Given the description of an element on the screen output the (x, y) to click on. 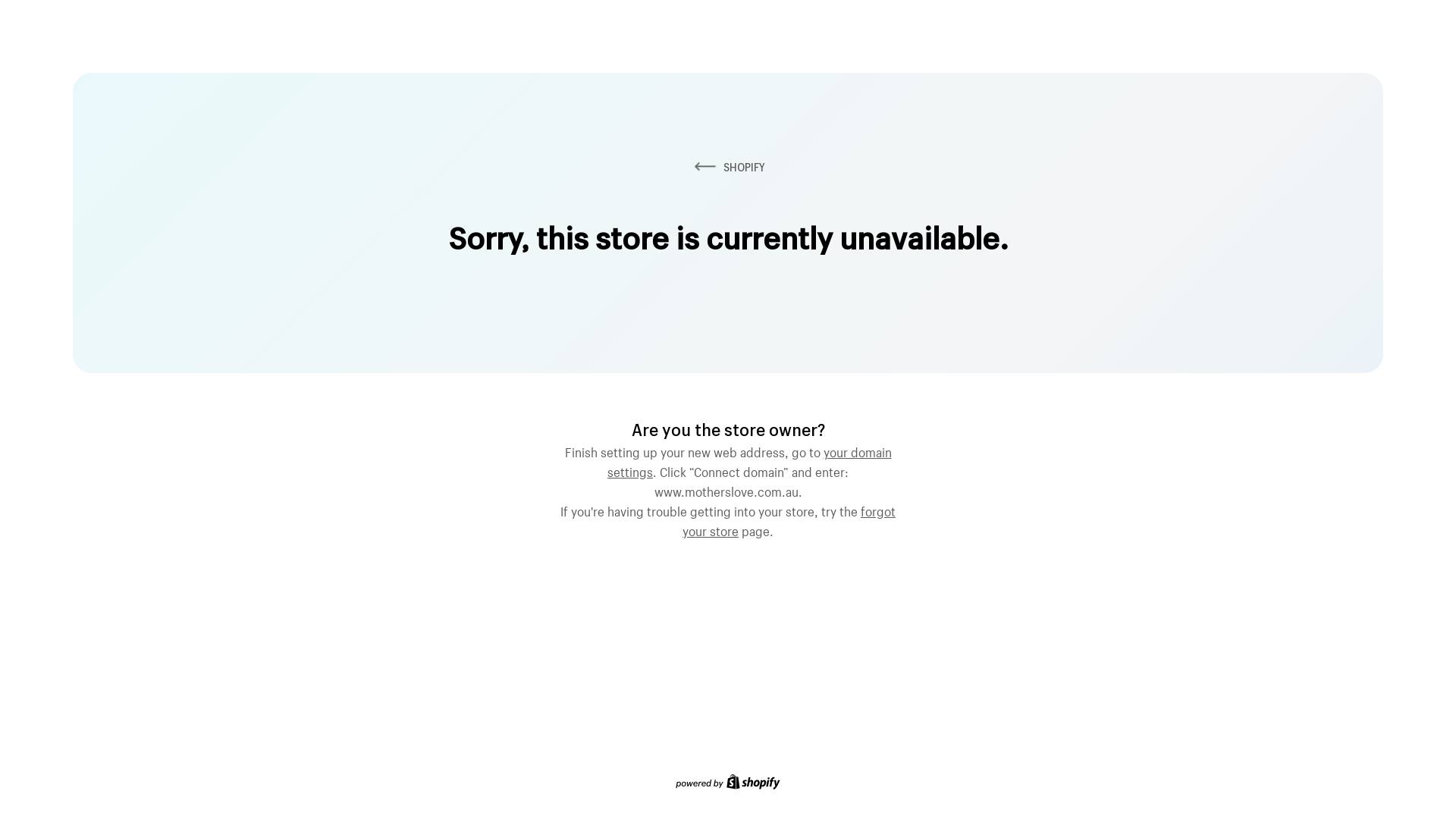
SHOPIFY Element type: text (727, 167)
forgot your store Element type: text (788, 519)
your domain settings Element type: text (749, 460)
